Given the description of an element on the screen output the (x, y) to click on. 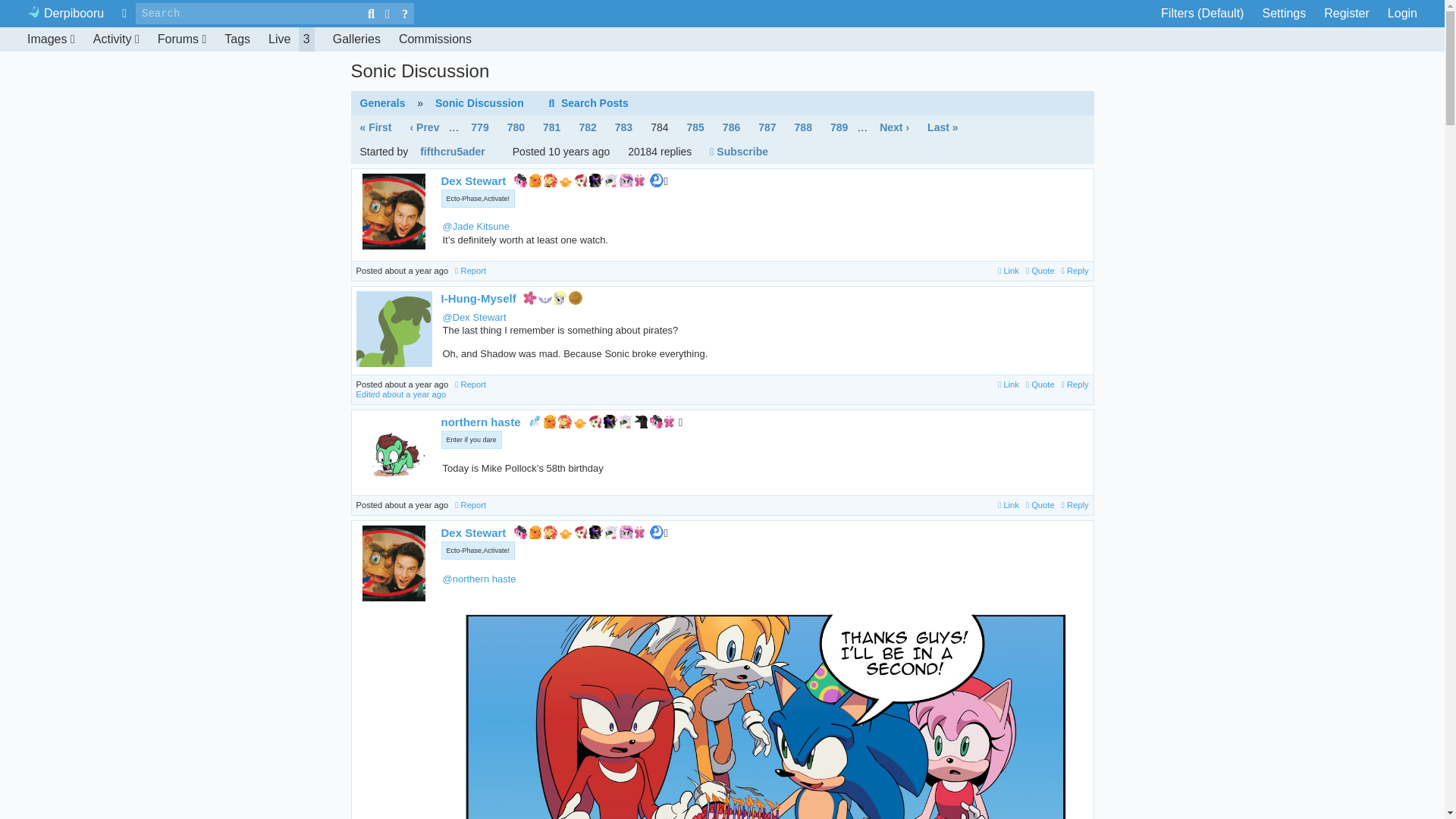
Login (1402, 13)
Tags (237, 39)
Images (50, 39)
Derpibooru (65, 13)
Roseluck - Had their OC in the 2023 Derpibooru Collab. (580, 180)
Register (1346, 13)
Elements of Harmony - Had an OC in the 2022 Community Collab (291, 39)
